Given the description of an element on the screen output the (x, y) to click on. 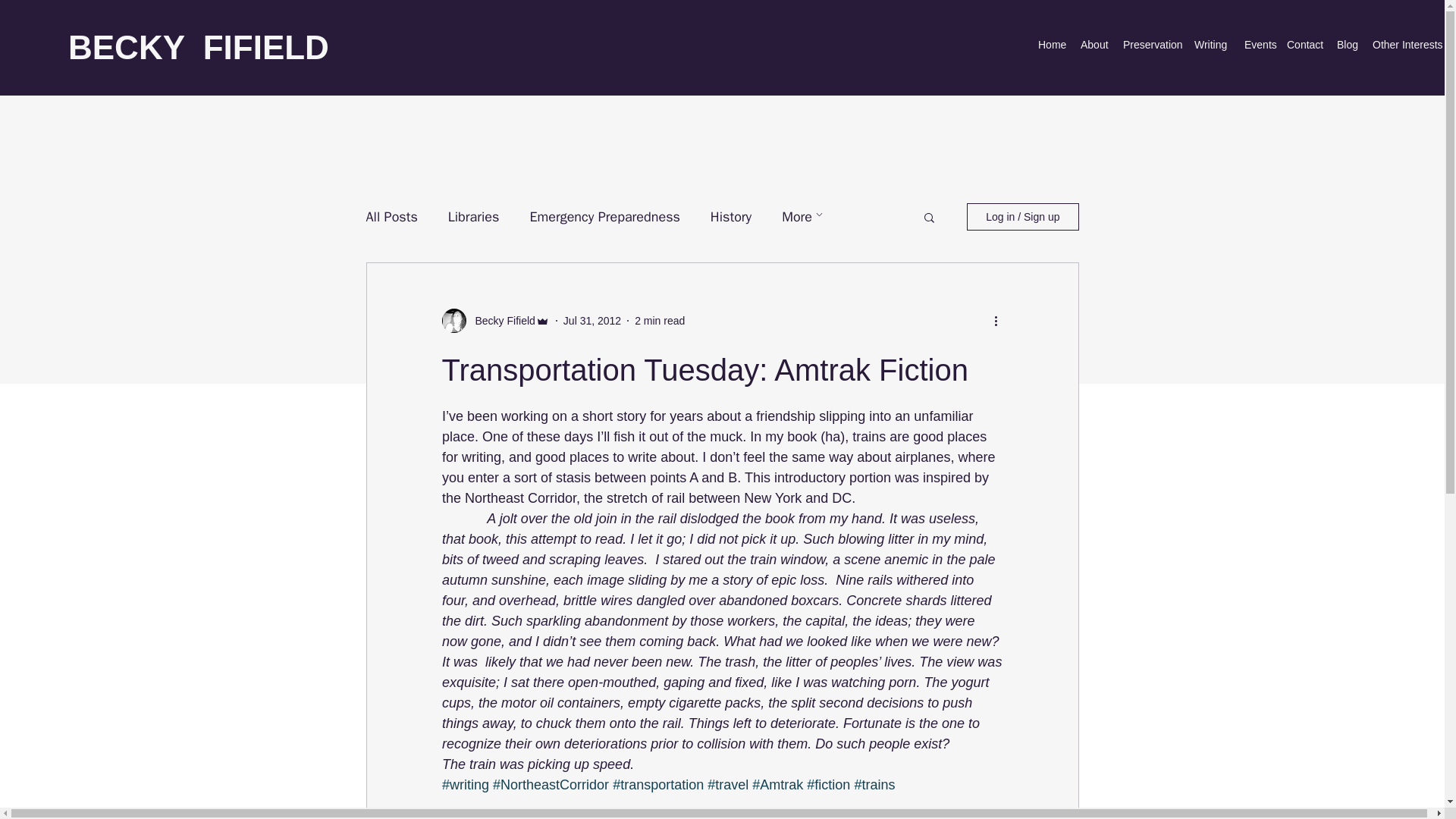
Other Interests (1404, 44)
Emergency Preparedness (604, 217)
Becky Fifield (499, 320)
Writing (1211, 44)
Libraries (473, 217)
Contact (1304, 44)
Preservation (1150, 44)
2 min read (659, 320)
All Posts (390, 217)
History (730, 217)
